Given the description of an element on the screen output the (x, y) to click on. 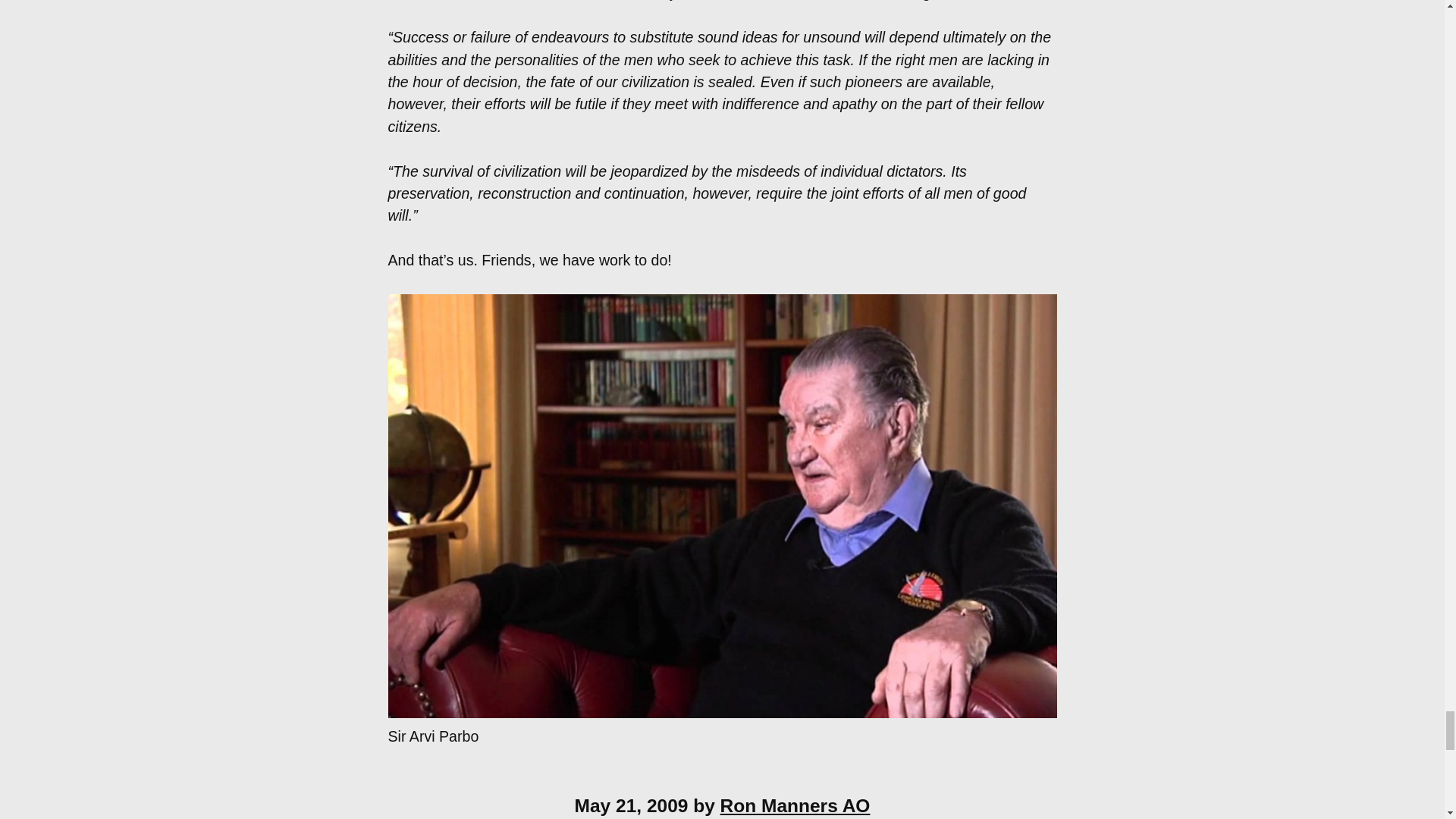
Ron Manners AO (795, 805)
Posts by Ron Manners AO (795, 805)
